Given the description of an element on the screen output the (x, y) to click on. 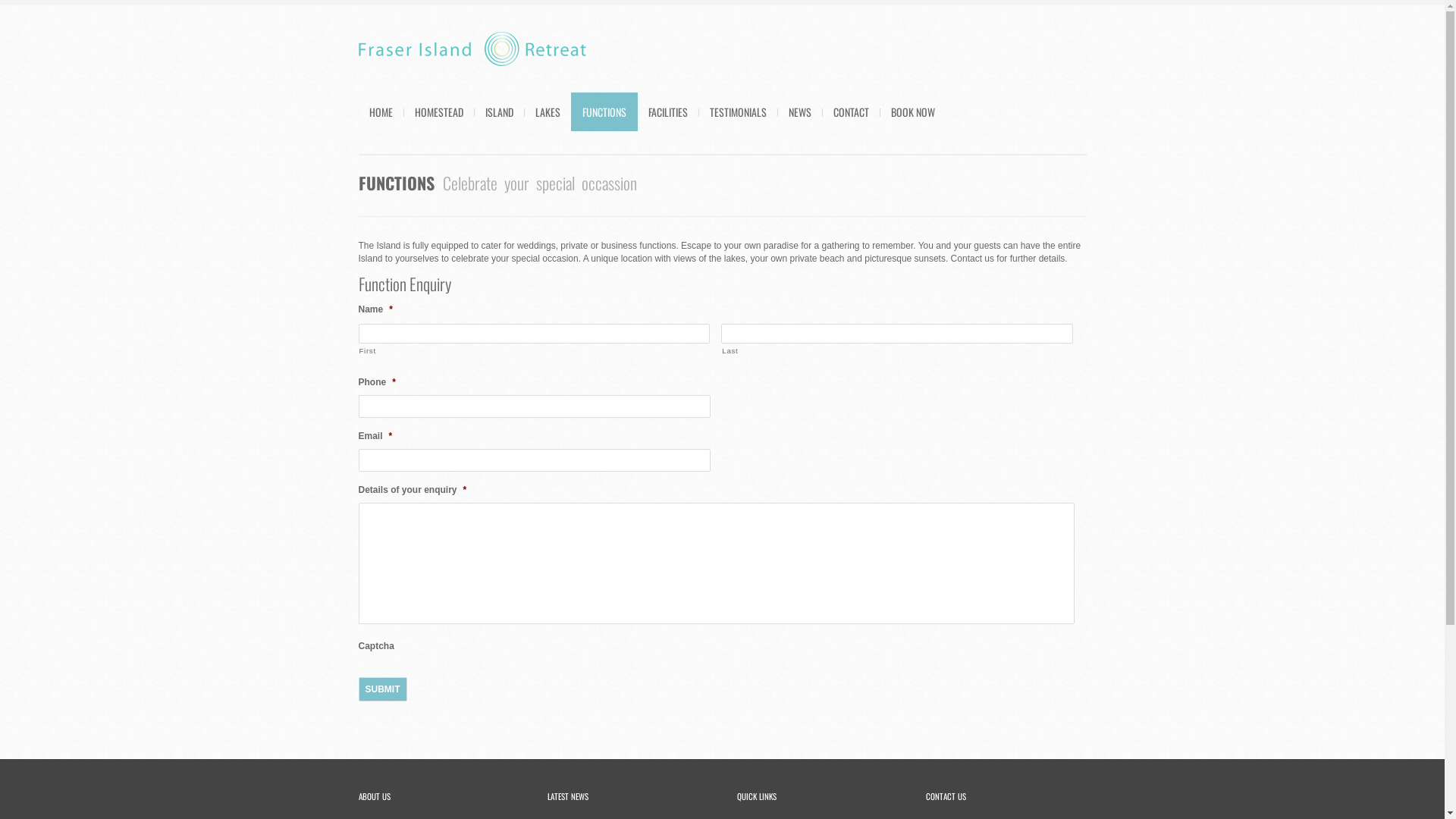
NEWS Element type: text (799, 111)
FUNCTIONS Element type: text (603, 111)
CONTACT Element type: text (851, 111)
BOOK NOW Element type: text (912, 111)
HOME Element type: text (380, 111)
FACILITIES Element type: text (668, 111)
HOMESTEAD Element type: text (438, 111)
LAKES Element type: text (547, 111)
ISLAND Element type: text (498, 111)
TESTIMONIALS Element type: text (737, 111)
Submit Element type: text (381, 689)
